Given the description of an element on the screen output the (x, y) to click on. 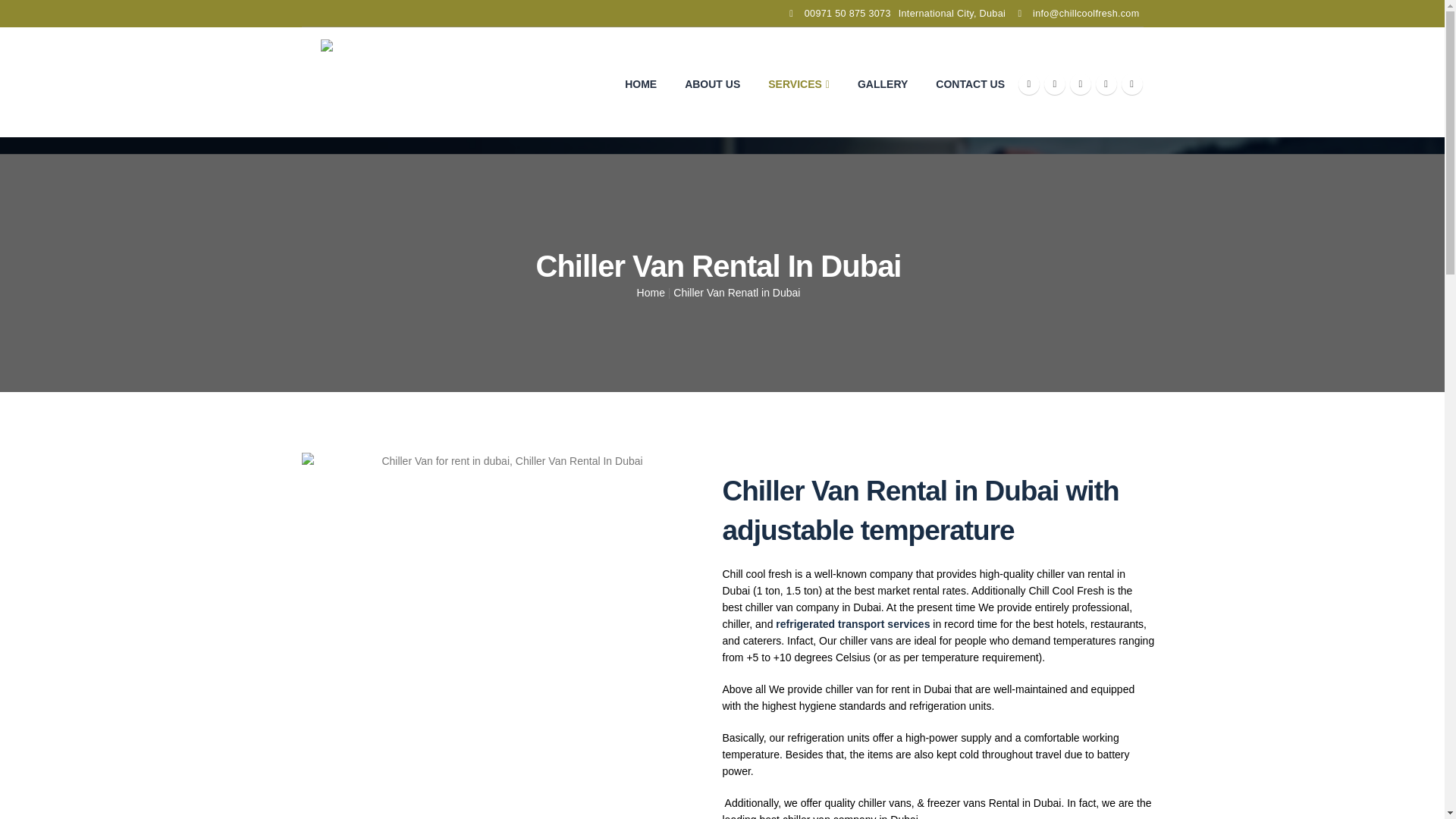
HOME (636, 84)
SERVICES (795, 84)
Facebook (1028, 84)
GALLERY (878, 84)
Pinterest (1080, 84)
ABOUT US (707, 84)
International City, Dubai (952, 13)
Instagram (1131, 84)
CONTACT US (966, 84)
Twitter (1054, 84)
